Given the description of an element on the screen output the (x, y) to click on. 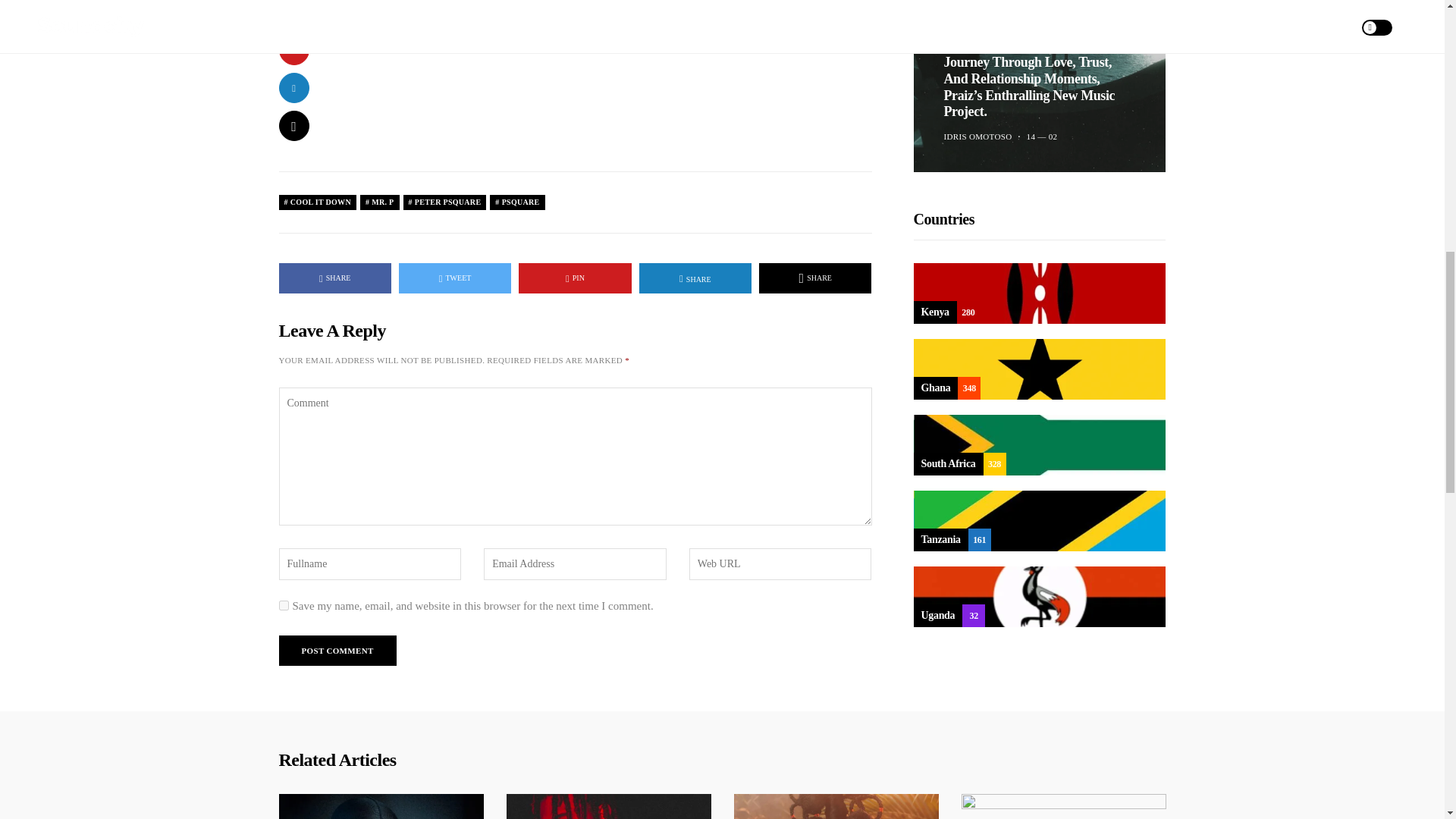
yes (283, 605)
Post Comment (337, 650)
Posts by Idris Omotoso (977, 102)
